Given the description of an element on the screen output the (x, y) to click on. 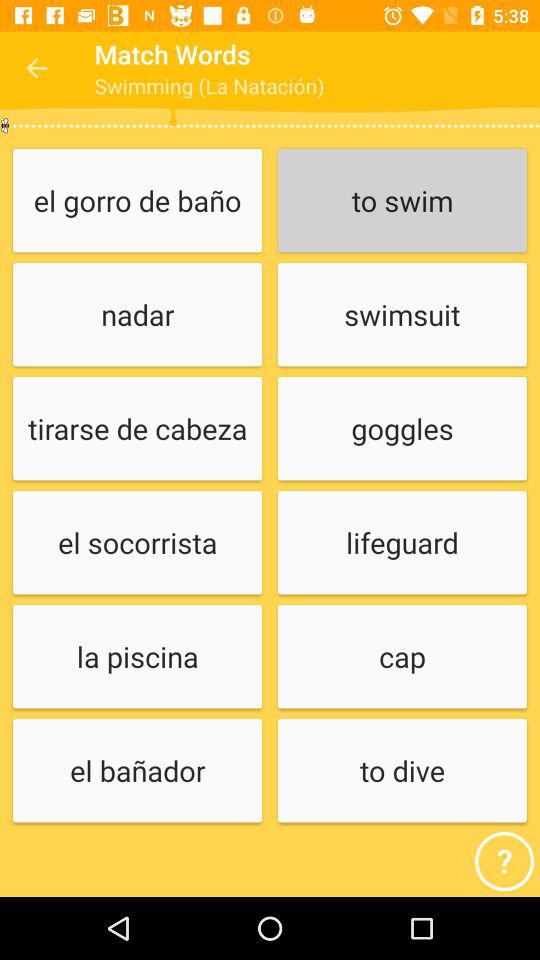
click icon below tirarse de cabeza icon (137, 543)
